Given the description of an element on the screen output the (x, y) to click on. 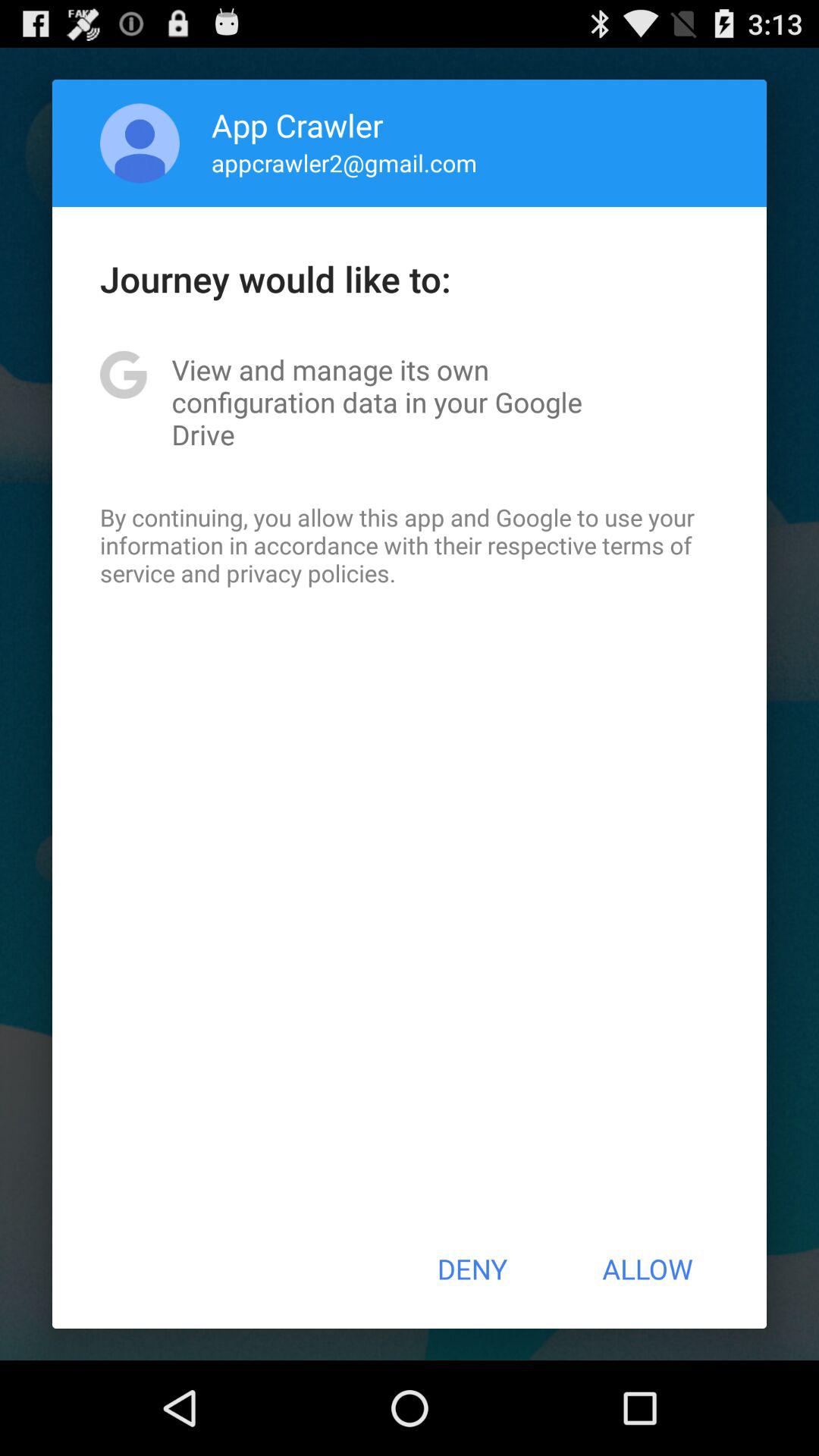
turn off the appcrawler2@gmail.com app (344, 162)
